Given the description of an element on the screen output the (x, y) to click on. 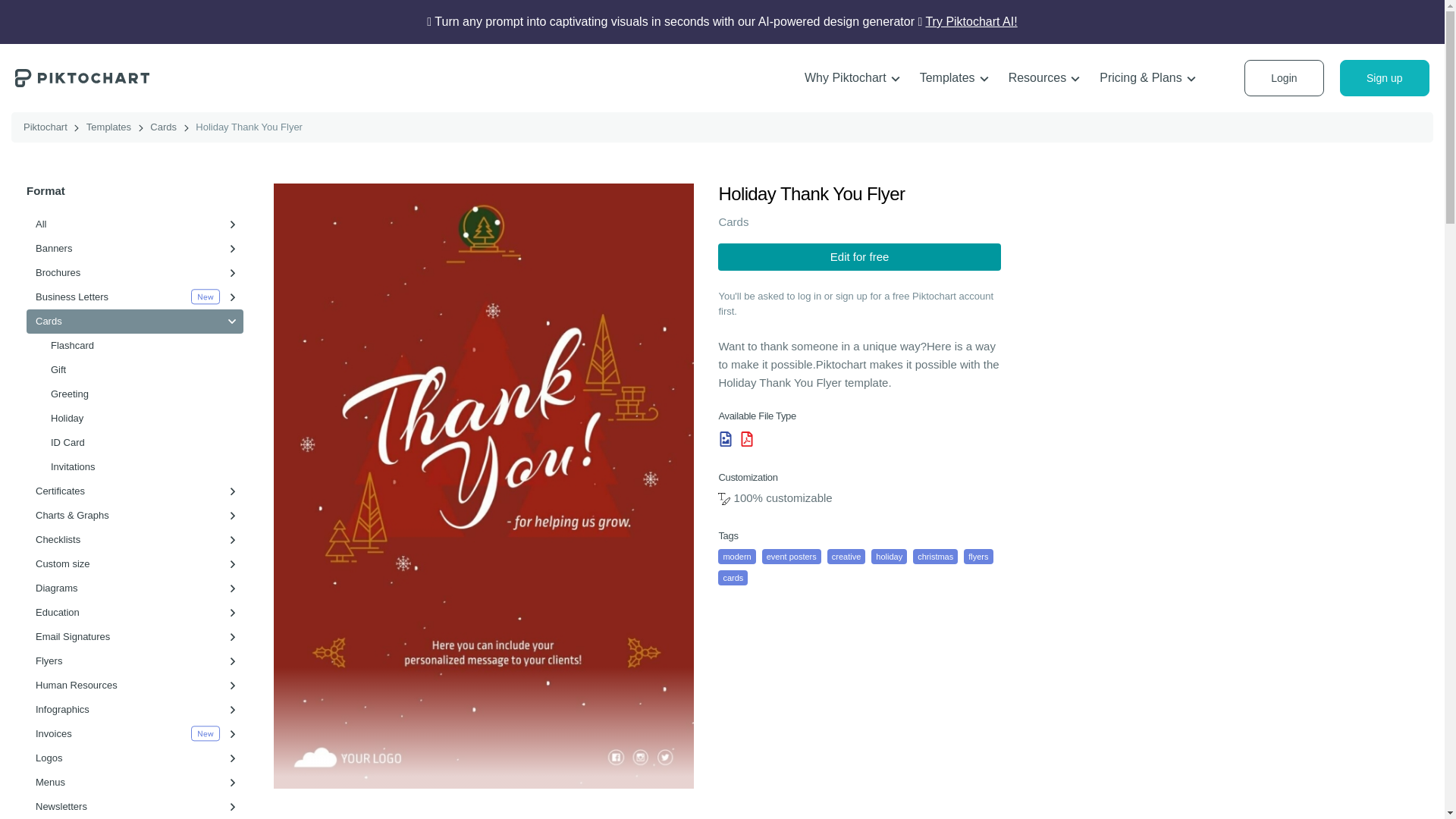
Why Piktochart (852, 78)
Why Piktochart (852, 78)
Piktochart (81, 77)
Try Piktochart AI! (970, 21)
